Given the description of an element on the screen output the (x, y) to click on. 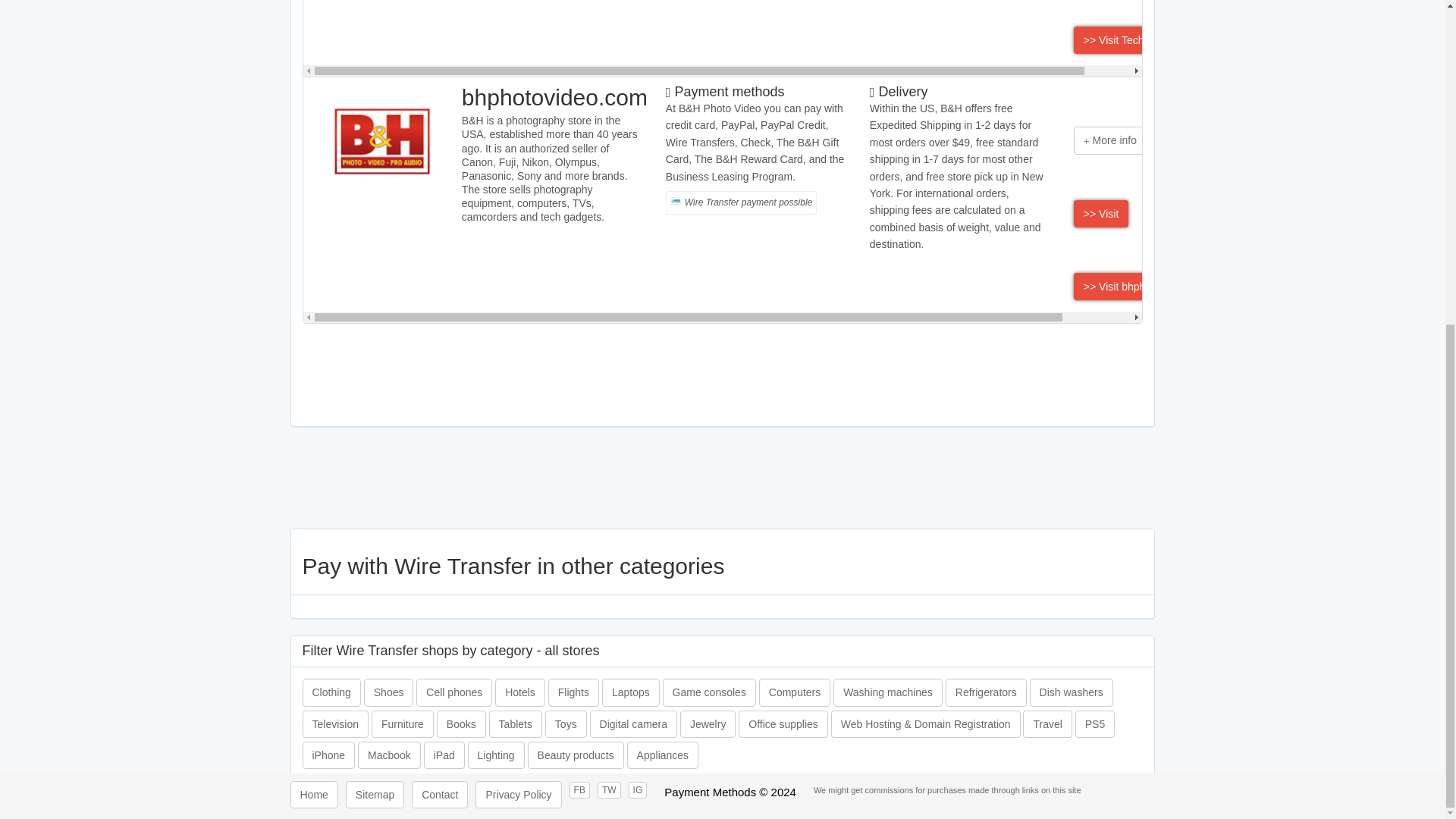
Advertisement (721, 477)
Advertisement (721, 373)
Shoes (388, 691)
Clothing (330, 691)
